Given the description of an element on the screen output the (x, y) to click on. 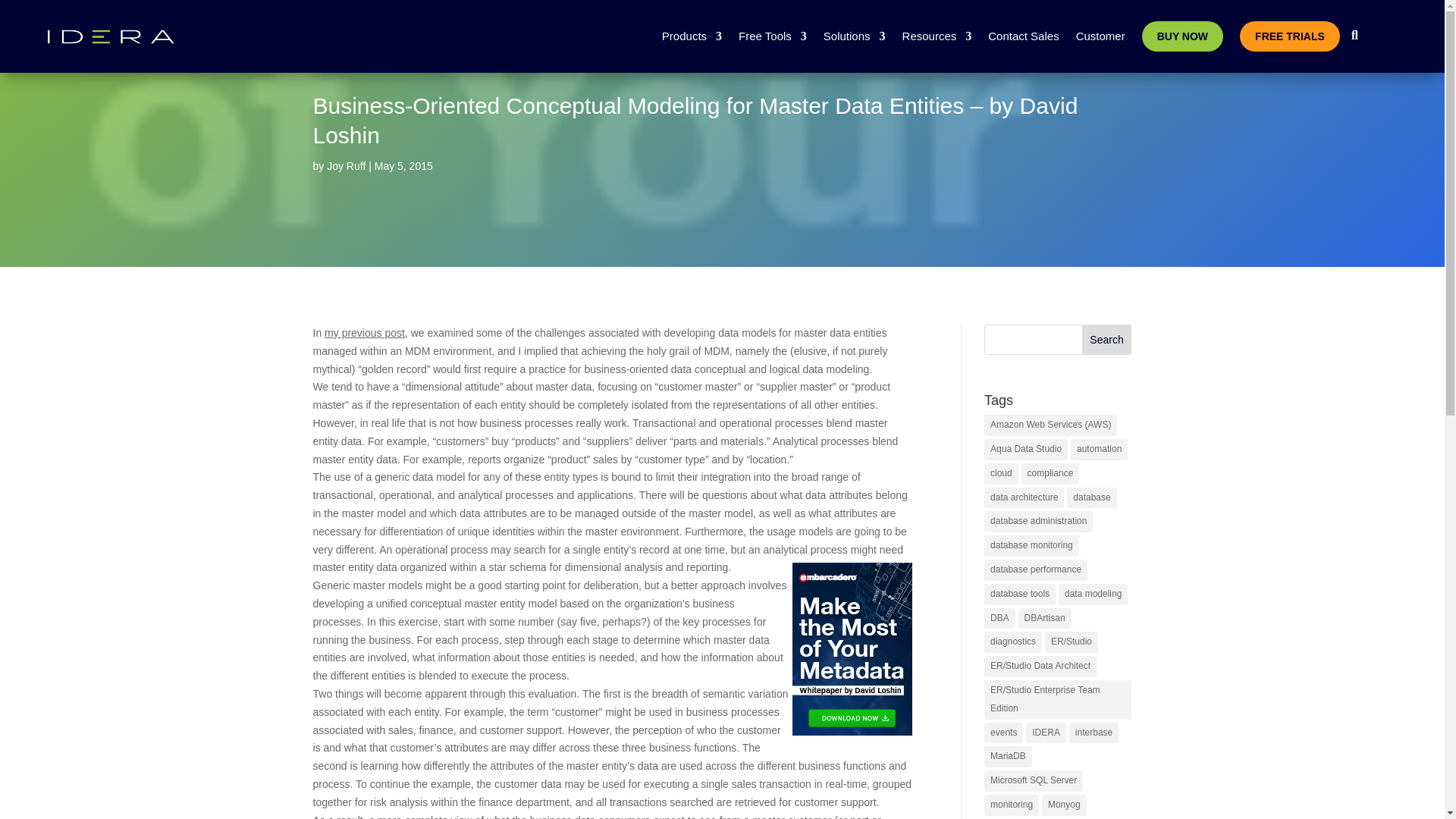
Free Tools (772, 36)
Search (1106, 339)
Posts by Joy Ruff (345, 165)
Solutions (854, 36)
Products (692, 36)
